Given the description of an element on the screen output the (x, y) to click on. 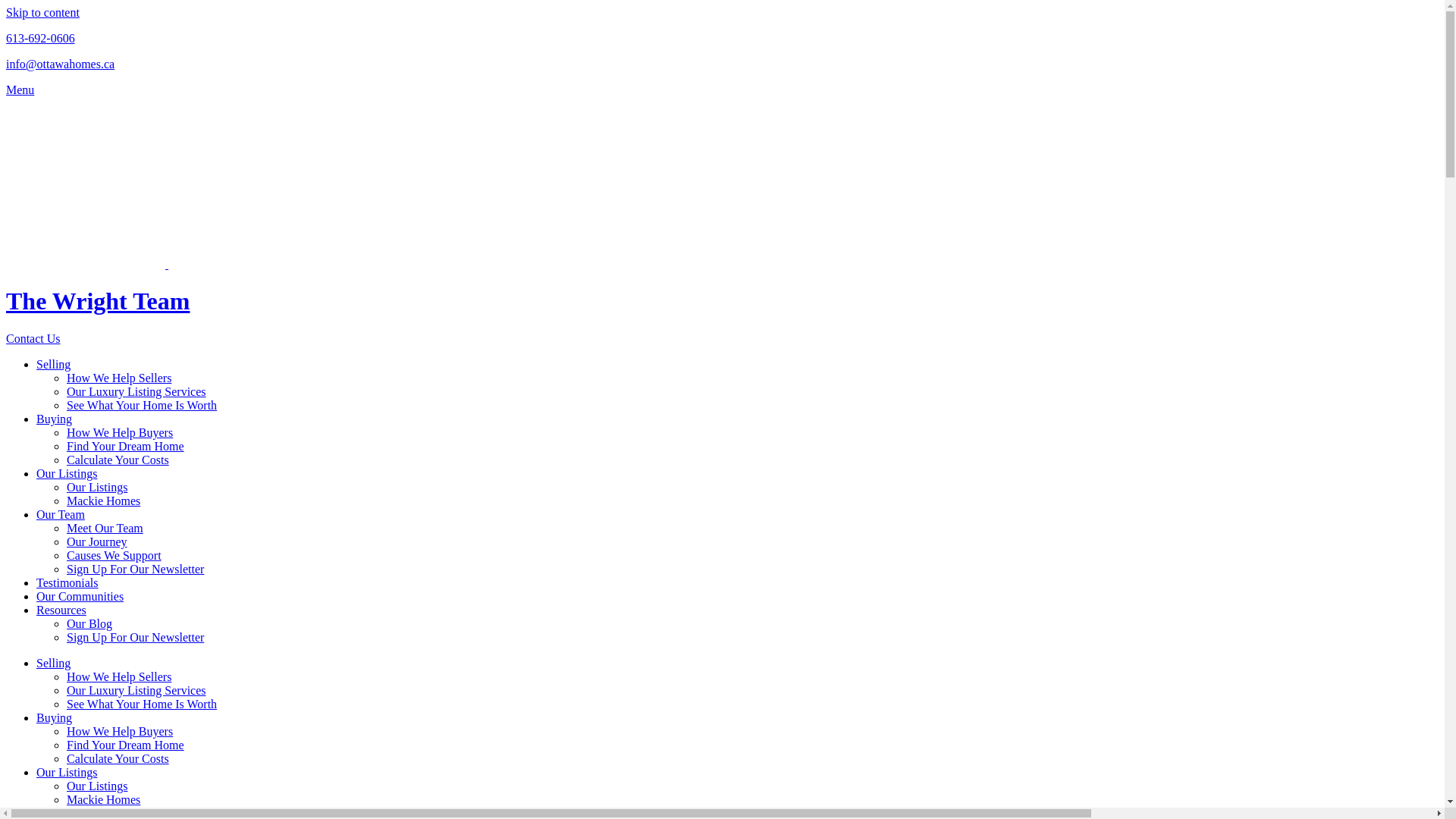
Selling Element type: text (53, 662)
Mackie Homes Element type: text (103, 500)
Resources Element type: text (61, 609)
Causes We Support Element type: text (113, 555)
Calculate Your Costs Element type: text (117, 459)
Our Journey Element type: text (96, 541)
Our Listings Element type: text (66, 771)
Our Listings Element type: text (96, 785)
Mackie Homes Element type: text (103, 799)
See What Your Home Is Worth Element type: text (141, 703)
How We Help Sellers Element type: text (118, 676)
Our Luxury Listing Services Element type: text (136, 690)
613-692-0606 Element type: text (40, 37)
Our Blog Element type: text (89, 623)
Our Team Element type: text (60, 514)
Our Luxury Listing Services Element type: text (136, 391)
Our Listings Element type: text (66, 473)
Skip to content Element type: text (42, 12)
Contact Us Element type: text (33, 338)
Find Your Dream Home Element type: text (125, 744)
See What Your Home Is Worth Element type: text (141, 404)
How We Help Buyers Element type: text (119, 432)
The Wright Team Element type: text (722, 286)
Our Communities Element type: text (79, 595)
Buying Element type: text (54, 418)
Sign Up For Our Newsletter Element type: text (134, 636)
Find Your Dream Home Element type: text (125, 445)
Calculate Your Costs Element type: text (117, 758)
How We Help Sellers Element type: text (118, 377)
Menu Element type: text (722, 90)
Buying Element type: text (54, 717)
Selling Element type: text (53, 363)
Meet Our Team Element type: text (104, 527)
Our Listings Element type: text (96, 486)
info@ottawahomes.ca Element type: text (60, 63)
Sign Up For Our Newsletter Element type: text (134, 568)
How We Help Buyers Element type: text (119, 730)
Testimonials Element type: text (67, 582)
